Given the description of an element on the screen output the (x, y) to click on. 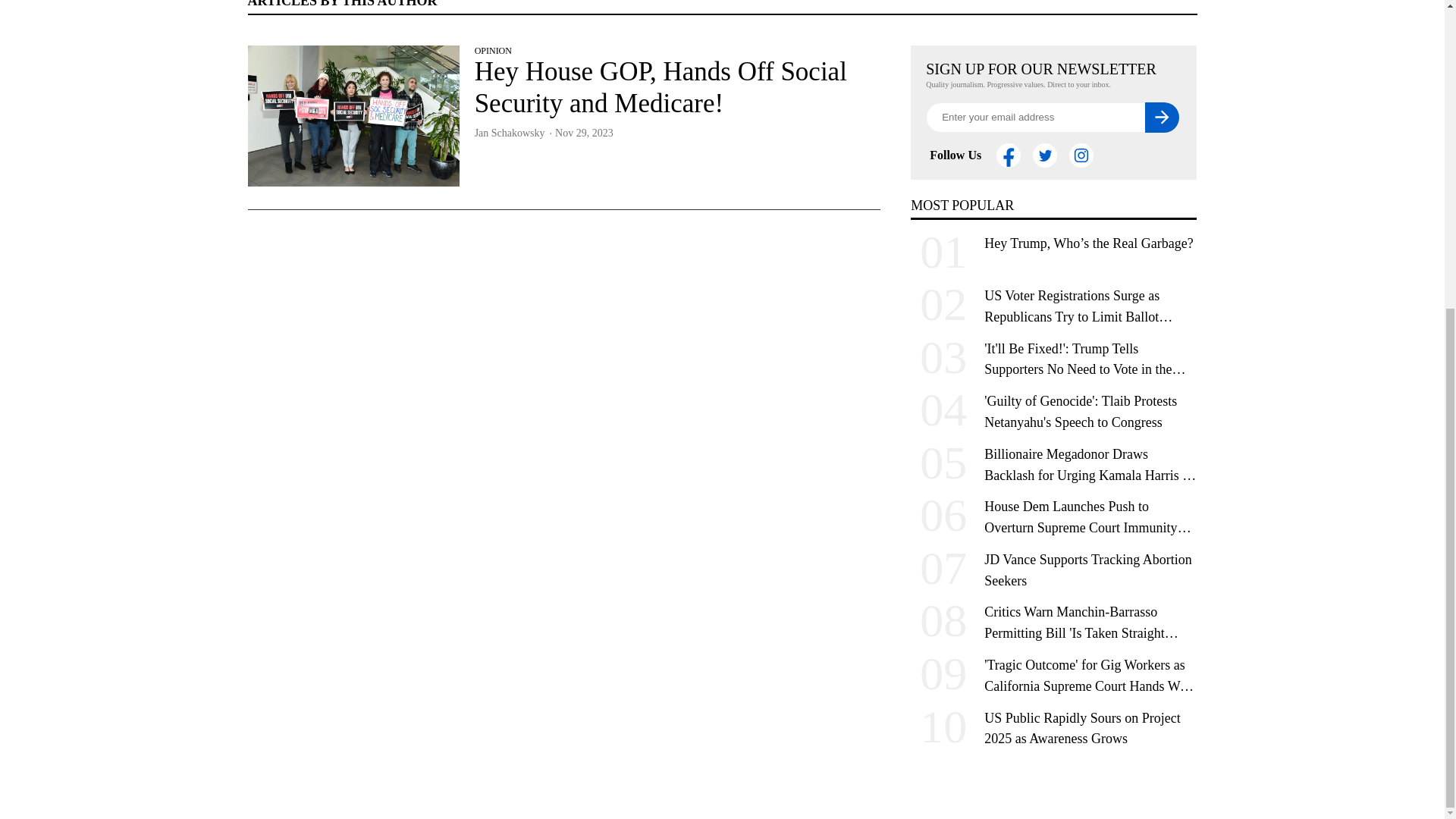
Donate Button (1051, 538)
